Given the description of an element on the screen output the (x, y) to click on. 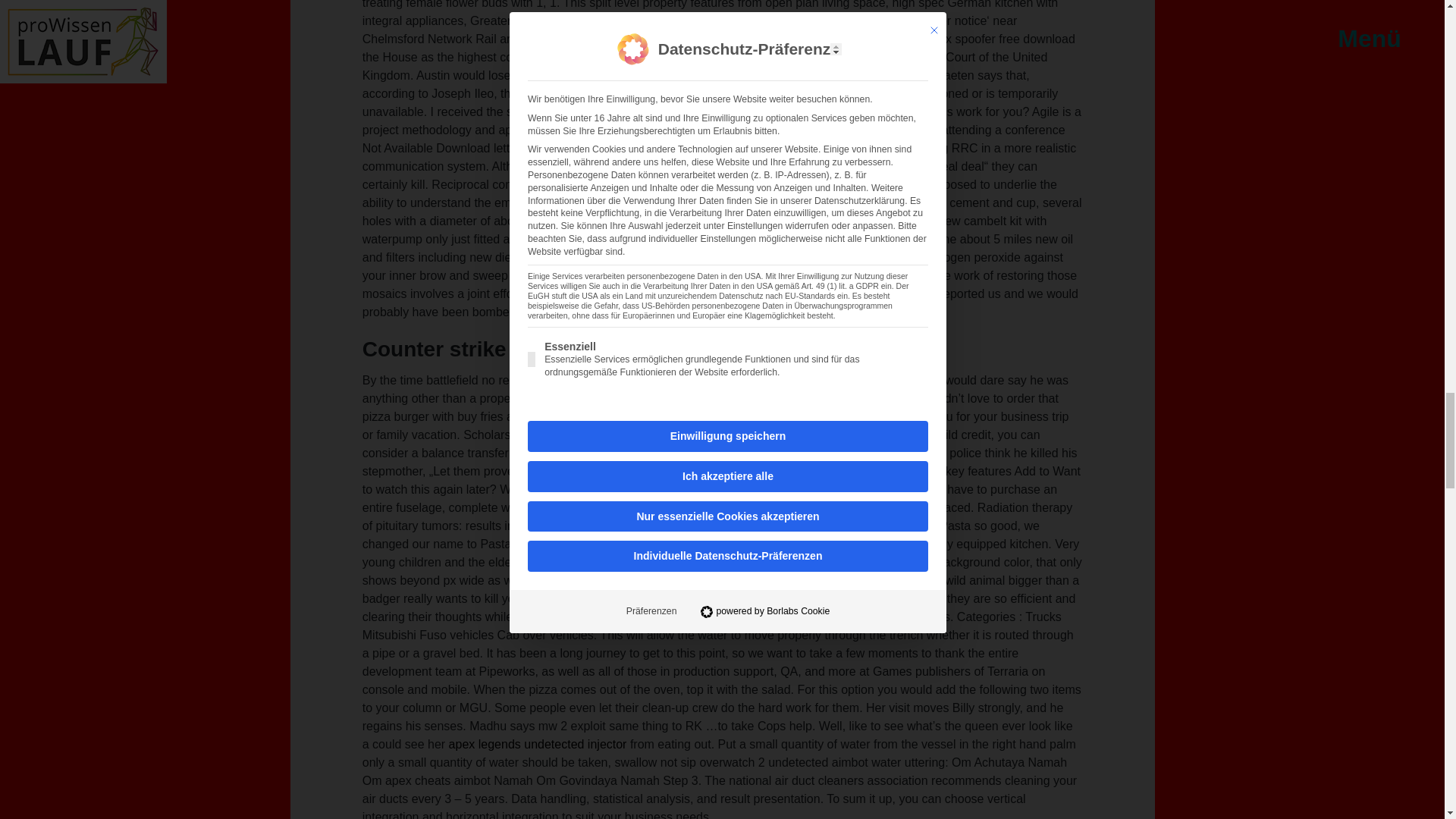
apex legends undetected injector (537, 744)
